Given the description of an element on the screen output the (x, y) to click on. 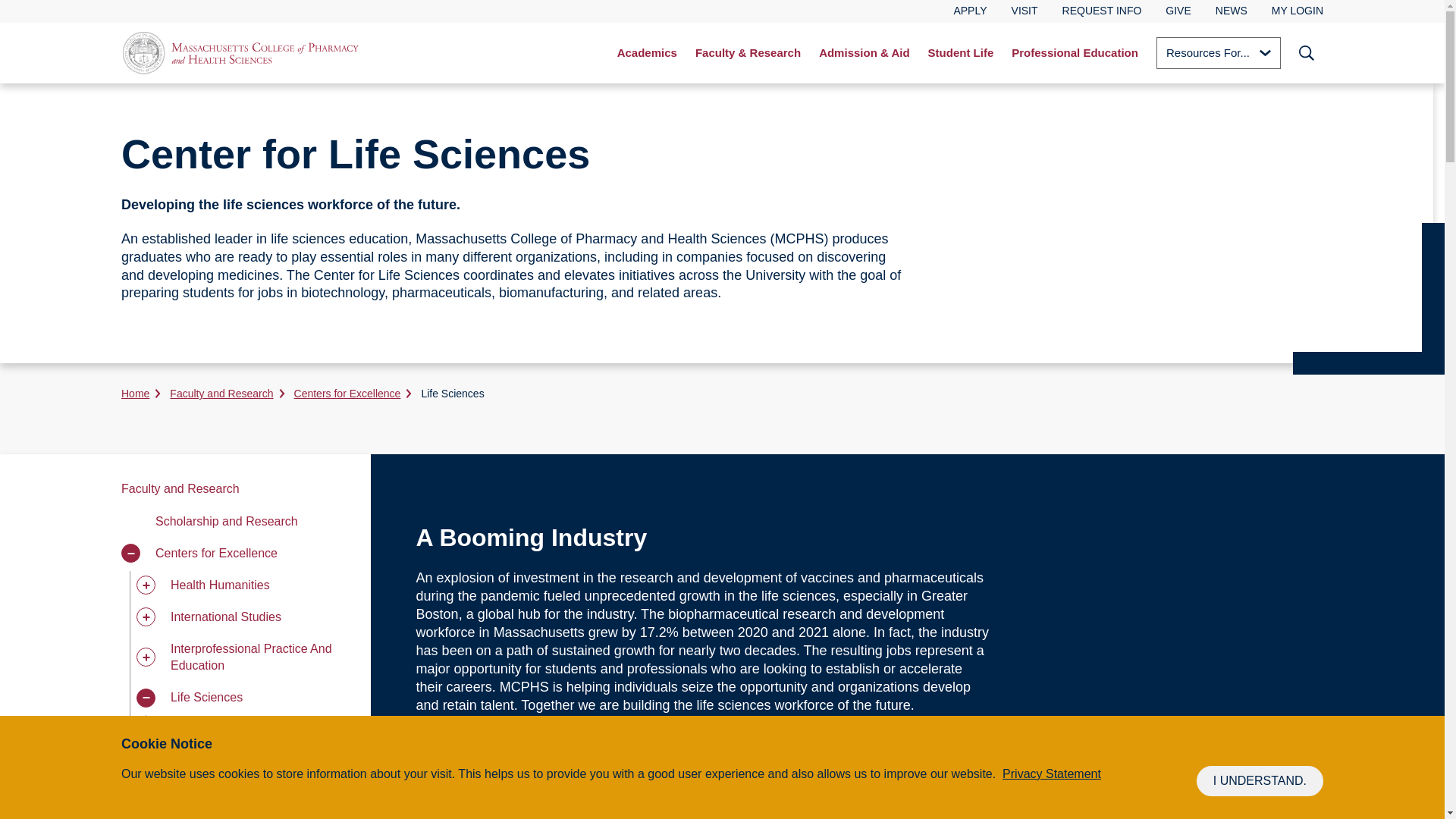
MY LOGIN (1297, 11)
APPLY (970, 11)
Resources For... (1218, 52)
GIVE (1178, 11)
Student Life (960, 52)
Academics (646, 52)
VISIT (1024, 11)
NEWS (1231, 11)
Professional Education (1075, 52)
REQUEST INFO (1101, 11)
